Given the description of an element on the screen output the (x, y) to click on. 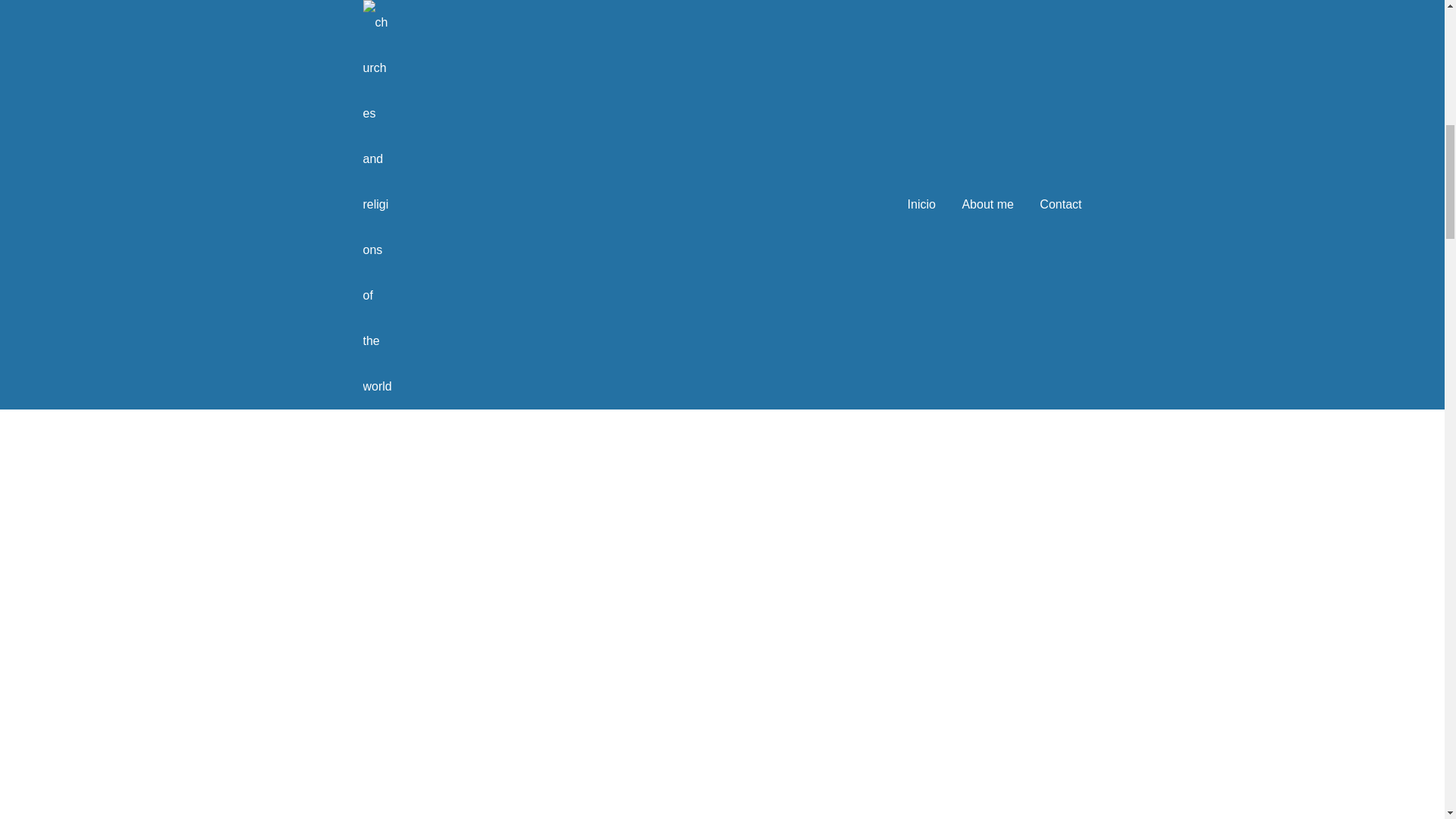
Learn More! (721, 291)
